Given the description of an element on the screen output the (x, y) to click on. 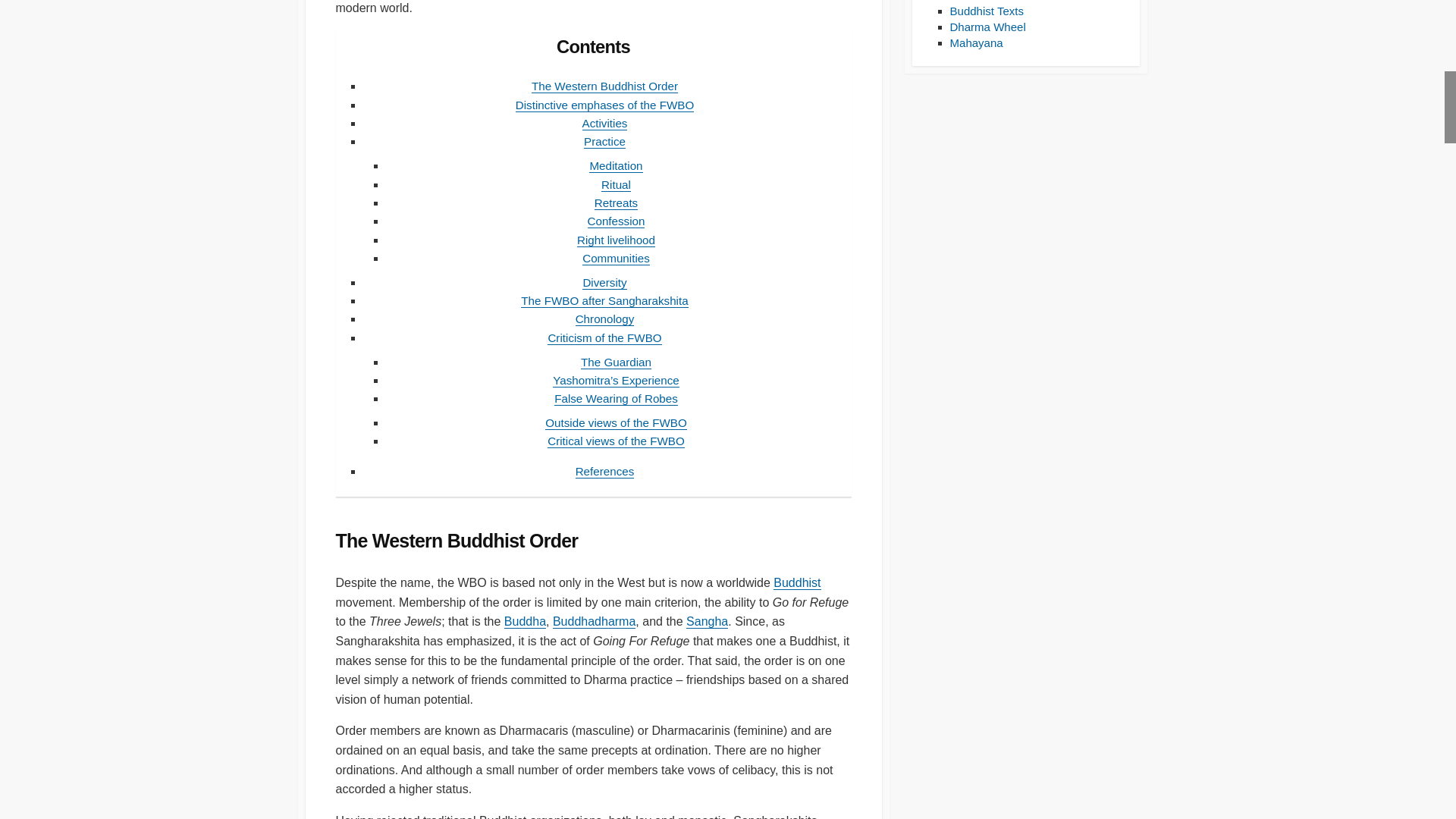
Practice (604, 141)
Critical views of the FWBO (615, 440)
False Wearing of Robes (616, 398)
Outside views of the FWBO (615, 422)
Right livelihood (615, 239)
Buddhadharma (593, 621)
Ritual (615, 184)
Retreats (615, 202)
Diversity (604, 282)
Buddhism (797, 582)
Buddha (524, 621)
References (604, 471)
The Guardian (615, 361)
Meditation (615, 164)
Chronology (604, 318)
